Given the description of an element on the screen output the (x, y) to click on. 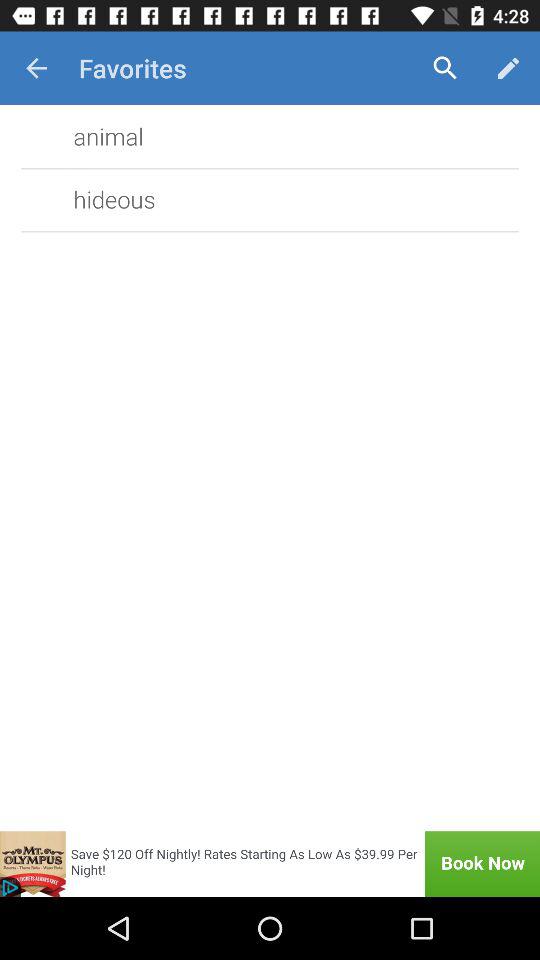
book now (270, 864)
